Given the description of an element on the screen output the (x, y) to click on. 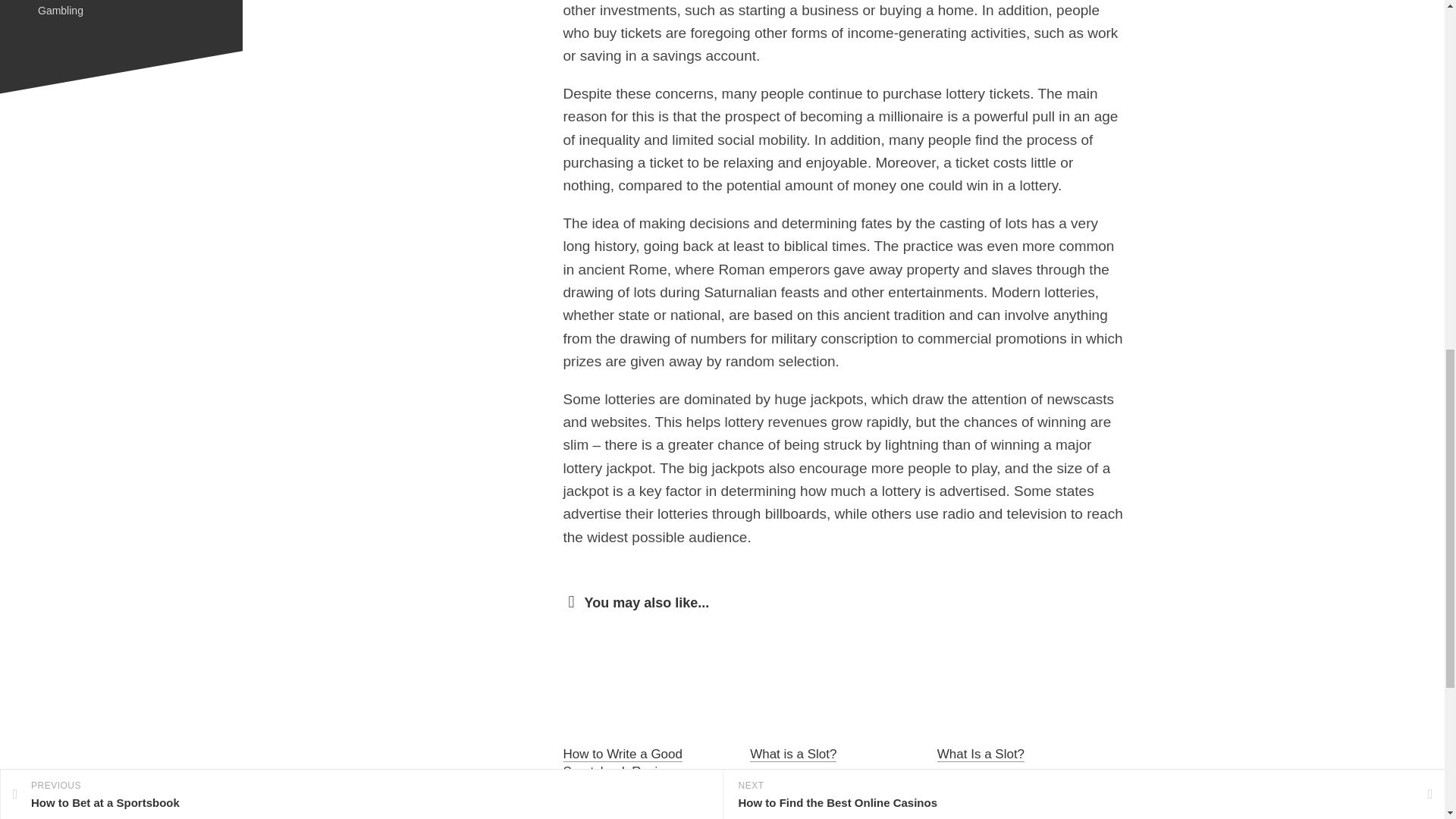
What Is a Slot? (981, 753)
Gambling (59, 10)
What is a Slot? (792, 753)
How to Write a Good Sportsbook Review (621, 762)
